Given the description of an element on the screen output the (x, y) to click on. 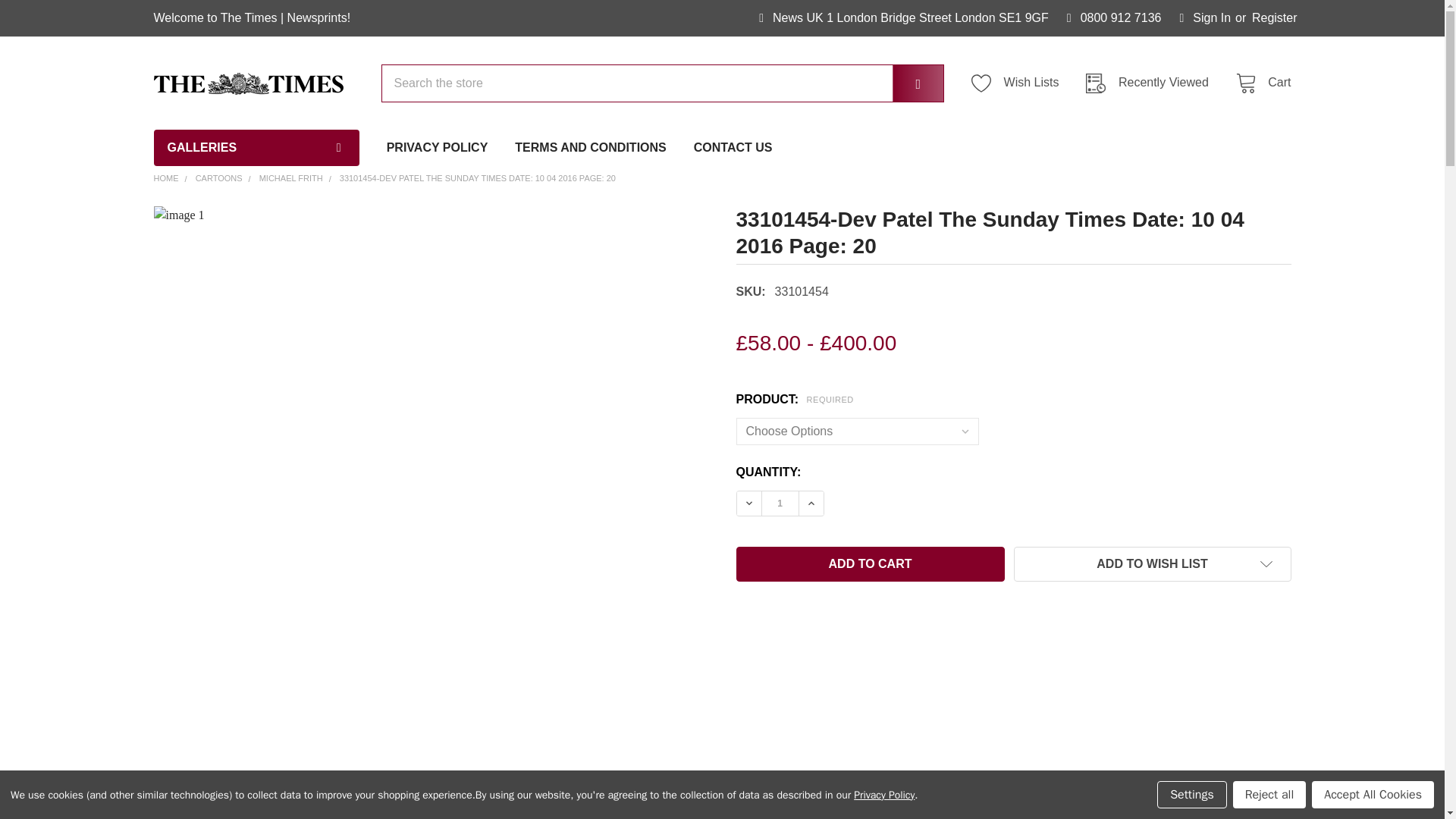
Recently Viewed (1151, 82)
Register (1274, 18)
GALLERIES (255, 147)
Sign In (1205, 18)
PayPal Message 1 (941, 377)
Cart (1259, 82)
Search (906, 83)
Cart (1259, 82)
Add to Cart (869, 564)
CONTACT US (732, 147)
Recently Viewed (1151, 82)
Wish Lists (1019, 82)
Wish Lists (1019, 82)
TERMS AND CONDITIONS (589, 147)
